Given the description of an element on the screen output the (x, y) to click on. 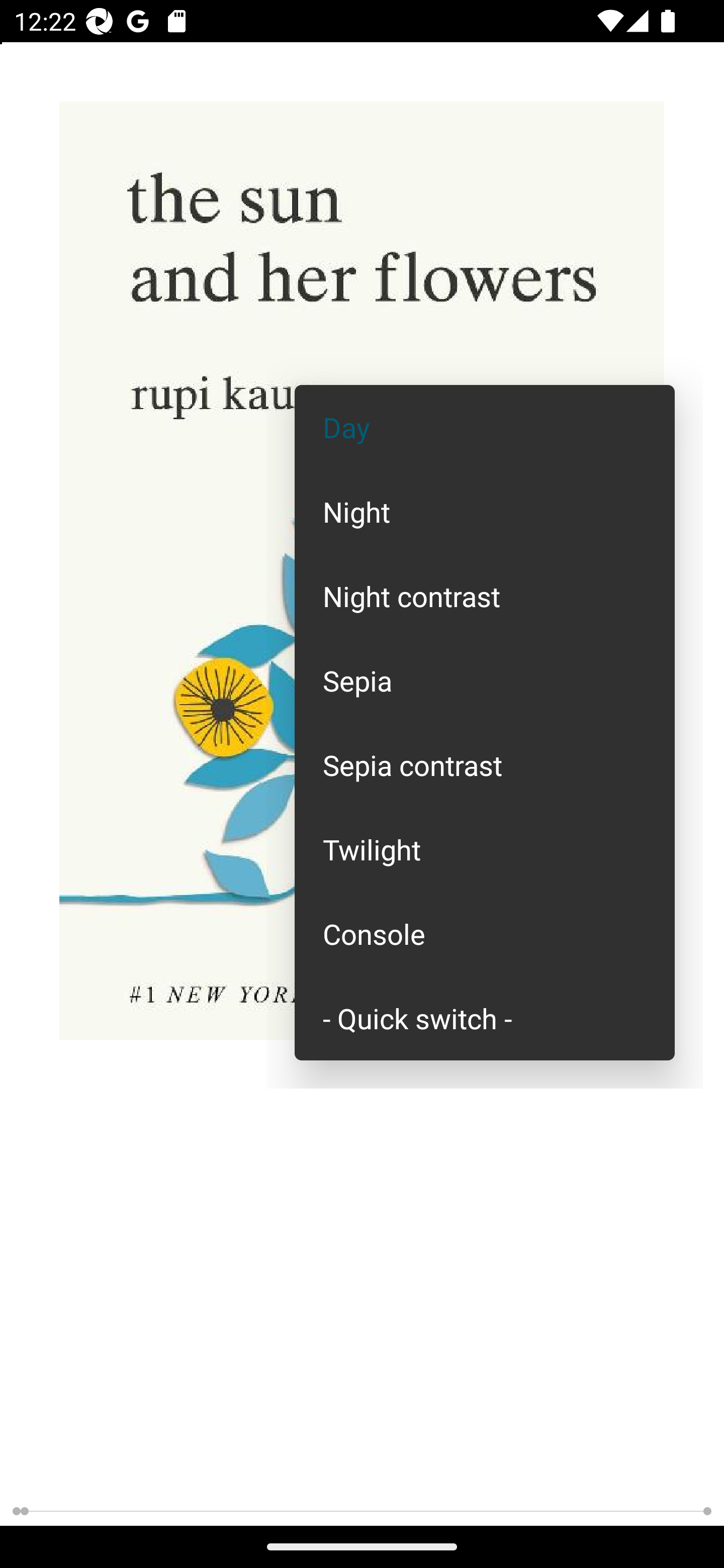
Day (484, 426)
Night (484, 510)
Night contrast (484, 595)
Sepia (484, 680)
Sepia contrast (484, 764)
Twilight (484, 849)
Console (484, 933)
- Quick switch - (484, 1017)
